Given the description of an element on the screen output the (x, y) to click on. 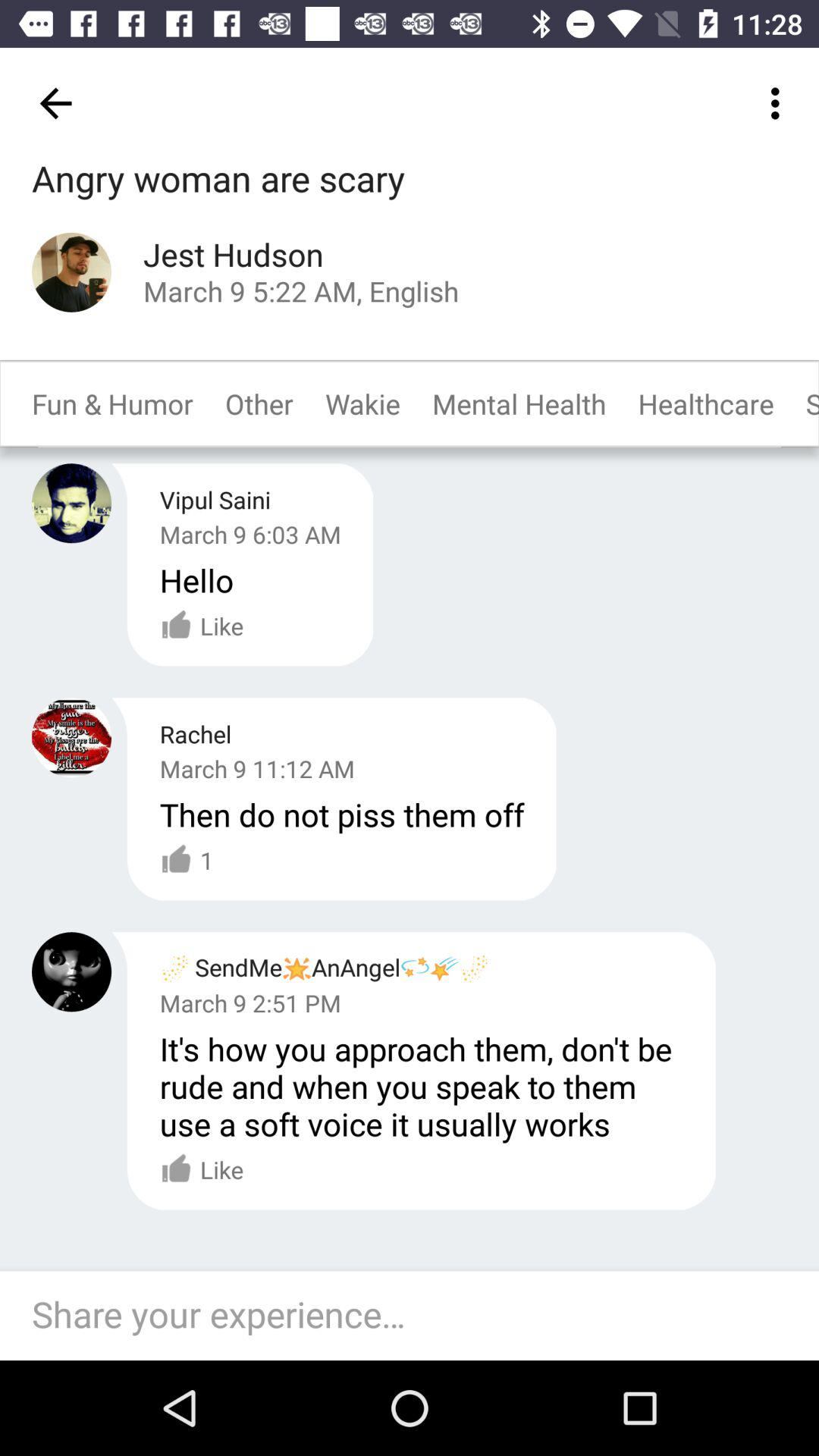
launch item below the march 9 6 (196, 579)
